Given the description of an element on the screen output the (x, y) to click on. 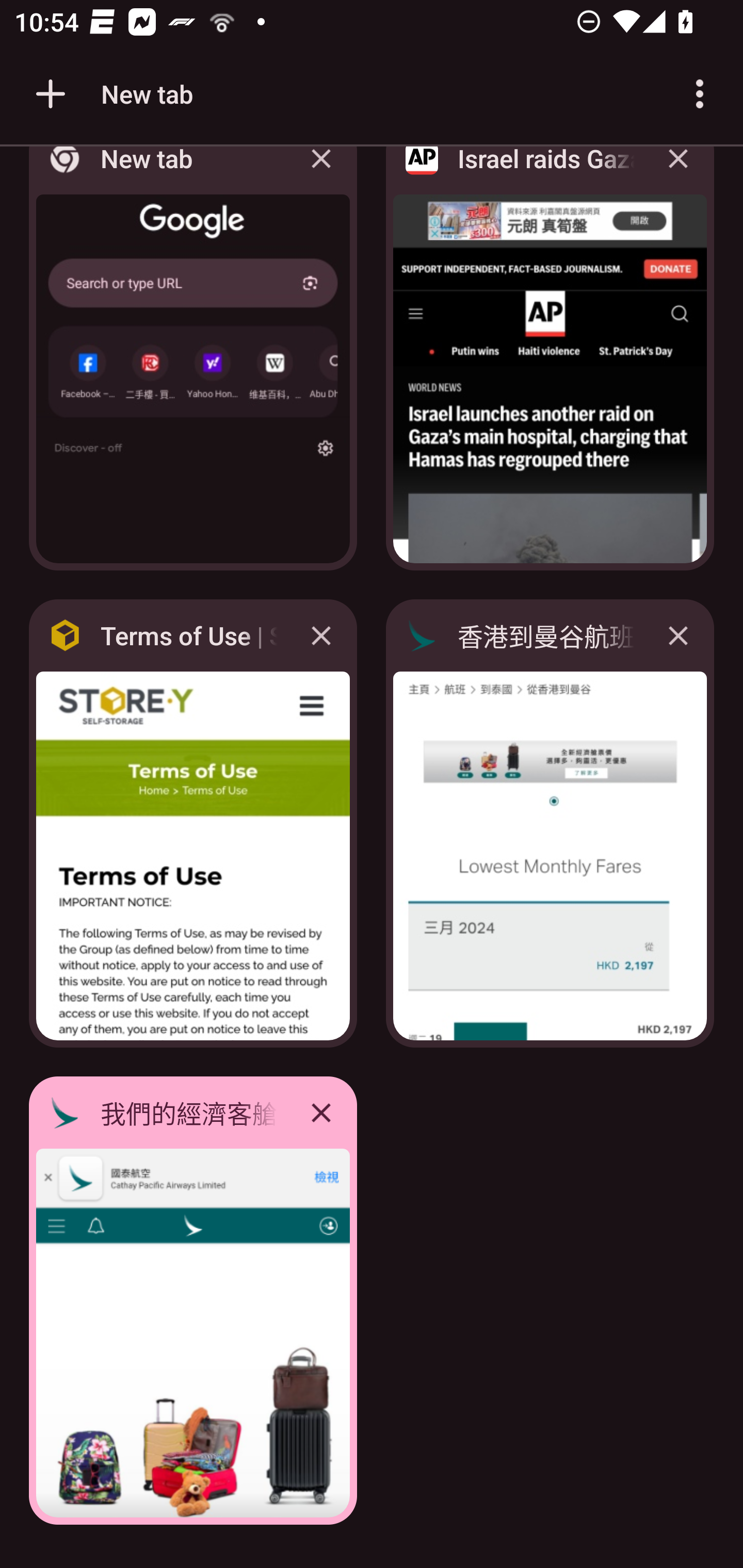
New tab (111, 93)
Customize and control Google Chrome (699, 93)
New tab New tab, tab Close New tab tab (192, 364)
Close New tab tab (320, 173)
Close Terms of Use | Store-Y Self Storage tab (320, 635)
Close 香港到曼谷航班 | 香港去曼谷機票優惠 | 國泰航空 tab (677, 635)
我們的經濟客艙票價 我們的經濟客艙票價, tab Close 我們的經濟客艙票價 tab (192, 1300)
Close 我們的經濟客艙票價 tab (320, 1112)
